Given the description of an element on the screen output the (x, y) to click on. 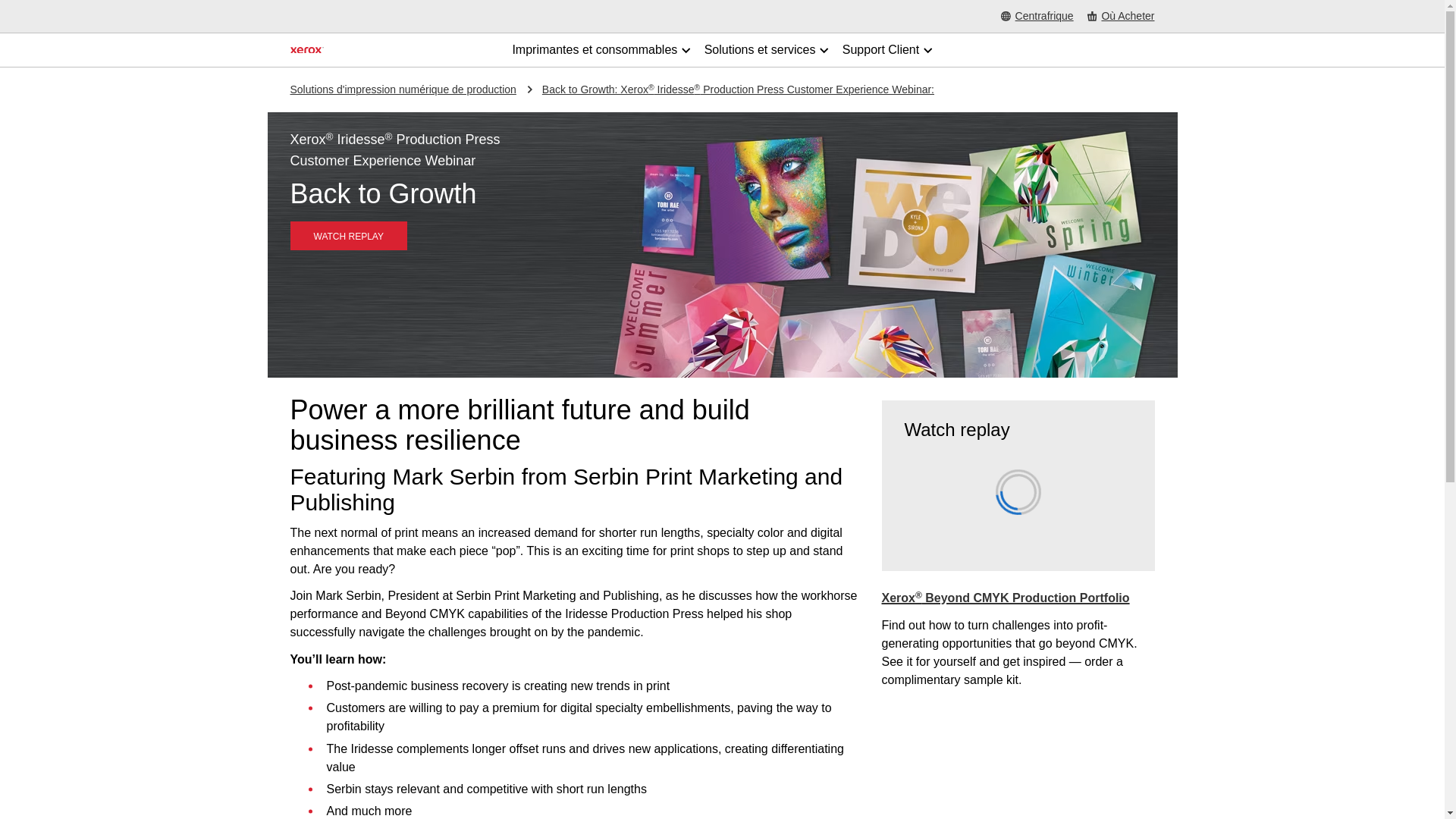
Centrafrique (1037, 16)
